Given the description of an element on the screen output the (x, y) to click on. 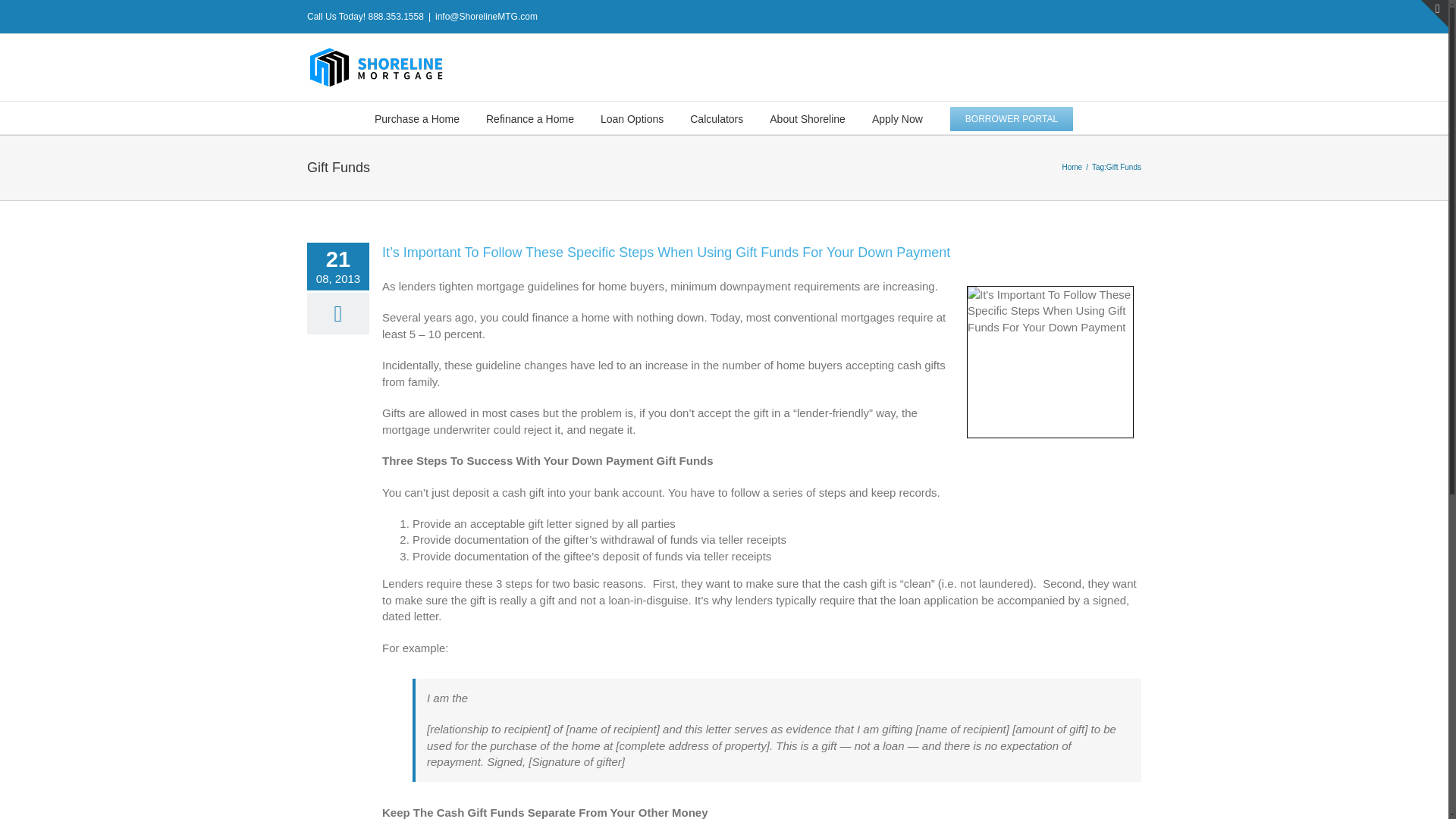
Loan Options (631, 117)
About Shoreline (807, 117)
Apply Now (897, 117)
BORROWER PORTAL (1011, 117)
Purchase a Home (417, 117)
Refinance a Home (529, 117)
Calculators (716, 117)
